Given the description of an element on the screen output the (x, y) to click on. 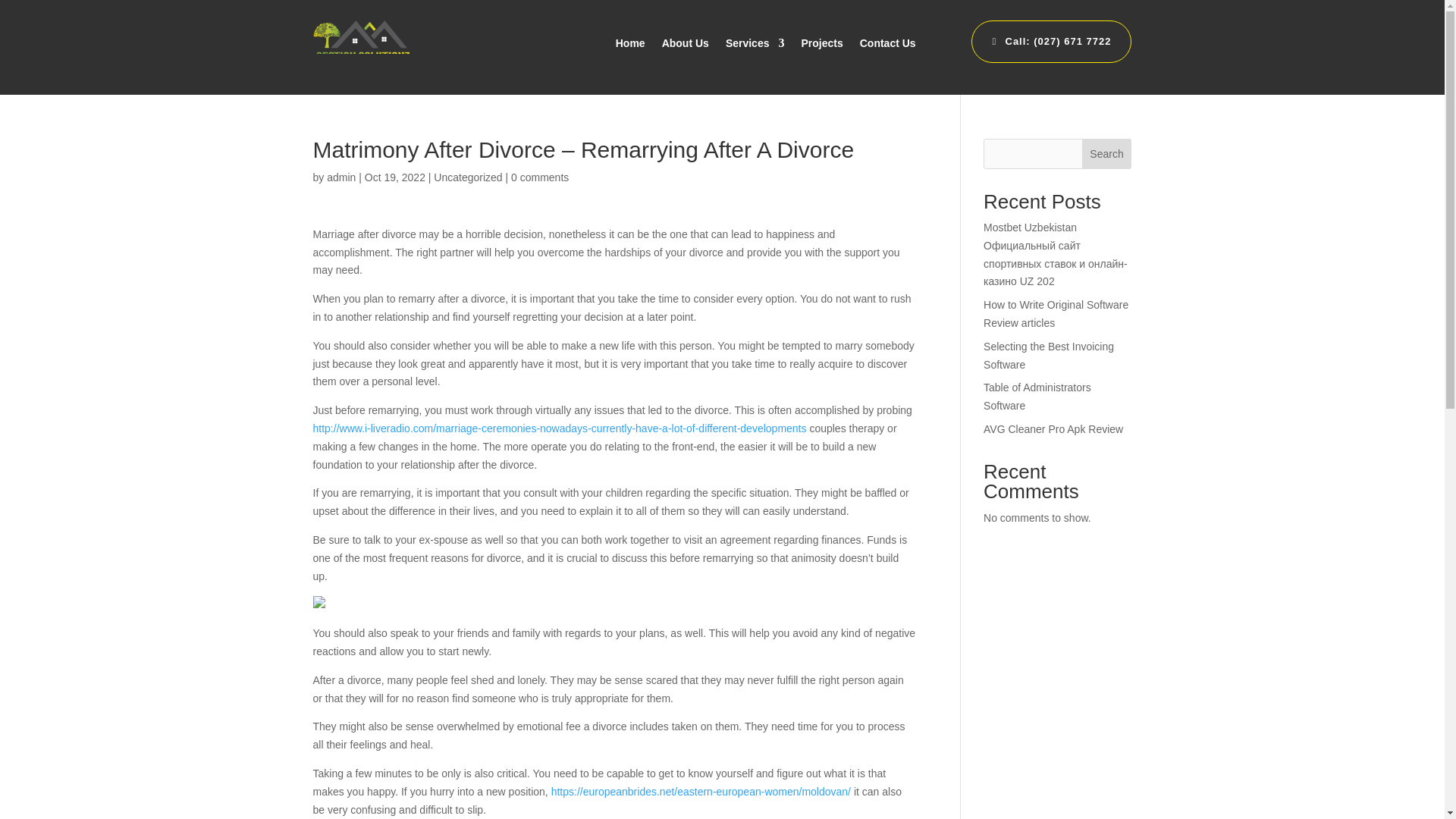
Selecting the Best Invoicing Software (1048, 355)
Services (754, 43)
Uncategorized (467, 177)
0 comments (540, 177)
Search (1106, 153)
admin (340, 177)
Table of Administrators Software (1037, 396)
How to Write Original Software Review articles (1056, 313)
AVG Cleaner Pro Apk Review (1053, 428)
Contact Us (887, 43)
Posts by admin (340, 177)
